Given the description of an element on the screen output the (x, y) to click on. 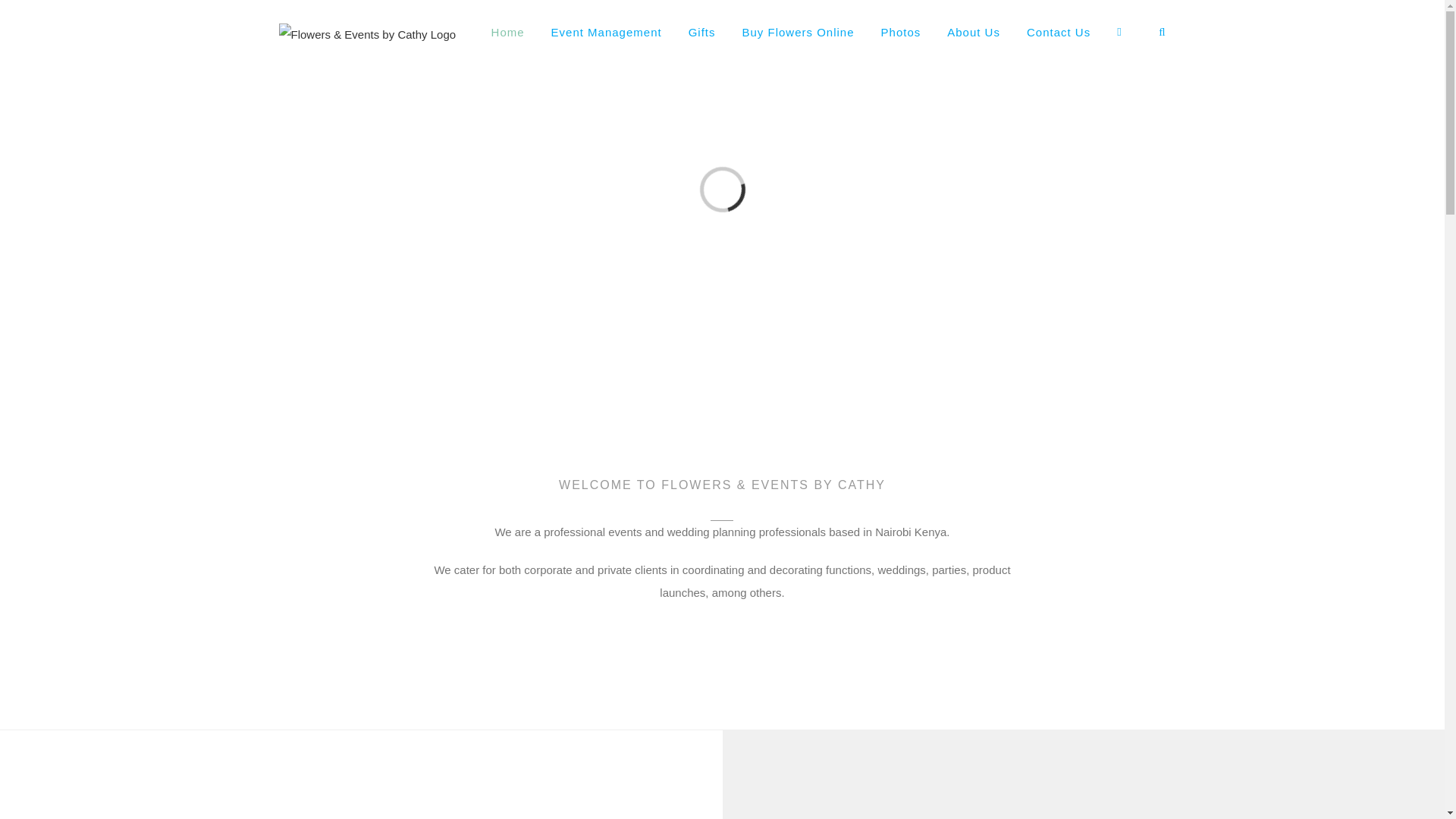
Contact Us (1058, 31)
Event Management (606, 31)
Buy Flowers Online (797, 31)
